Given the description of an element on the screen output the (x, y) to click on. 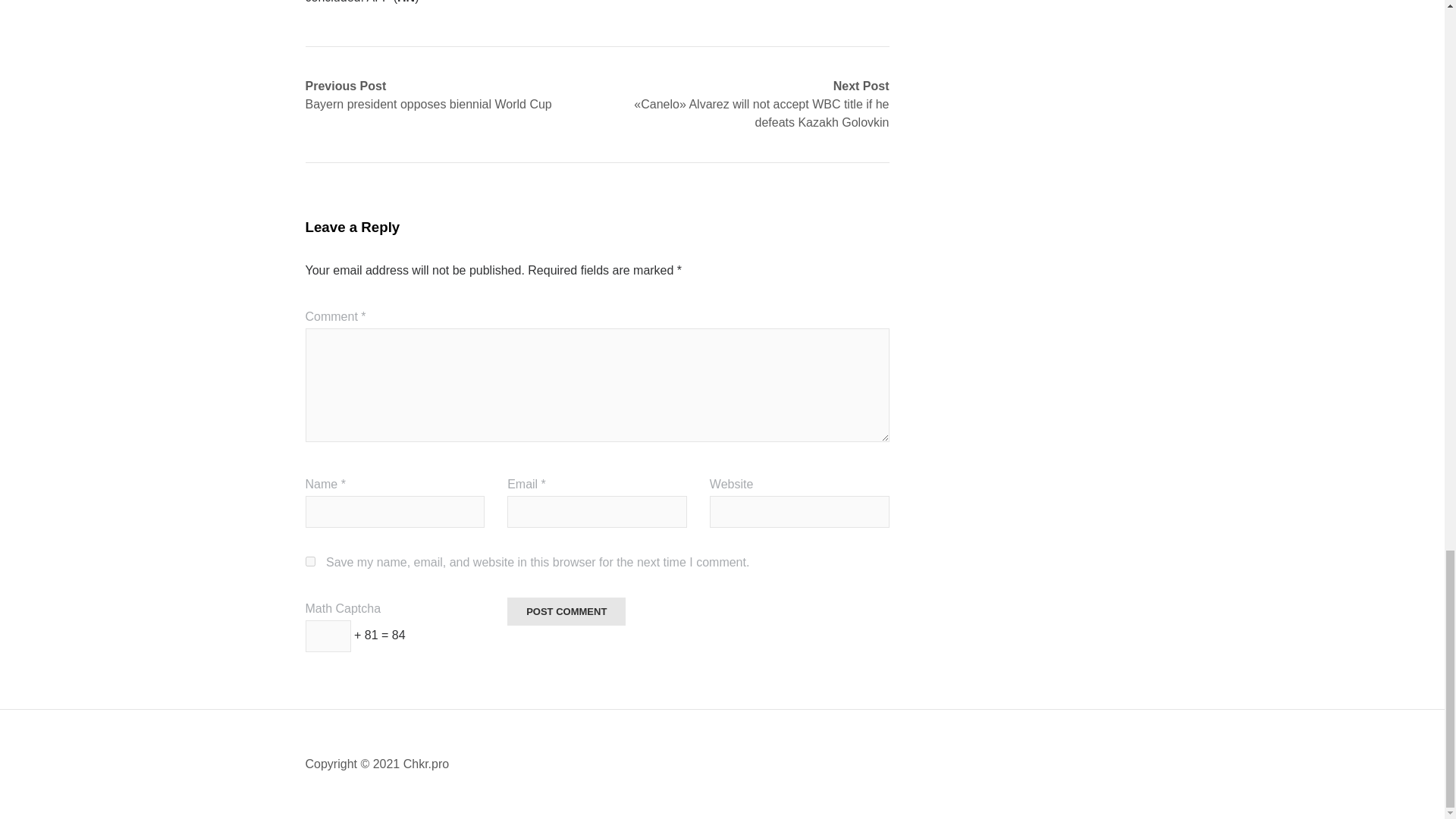
Post Comment (566, 611)
yes (309, 561)
Post Comment (566, 611)
